Given the description of an element on the screen output the (x, y) to click on. 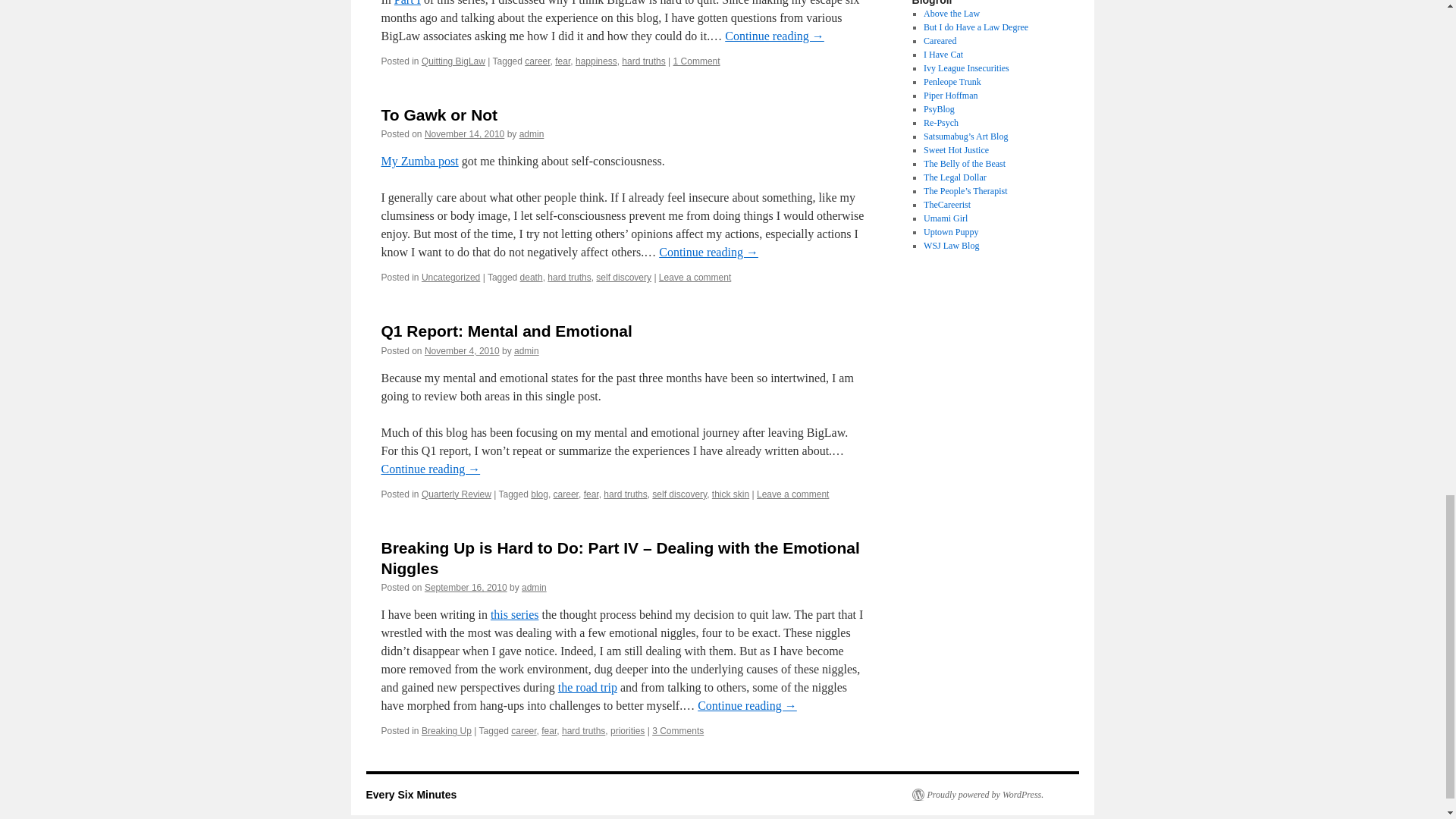
4:42 am (464, 133)
4:48 am (462, 350)
View all posts by admin (531, 133)
